Given the description of an element on the screen output the (x, y) to click on. 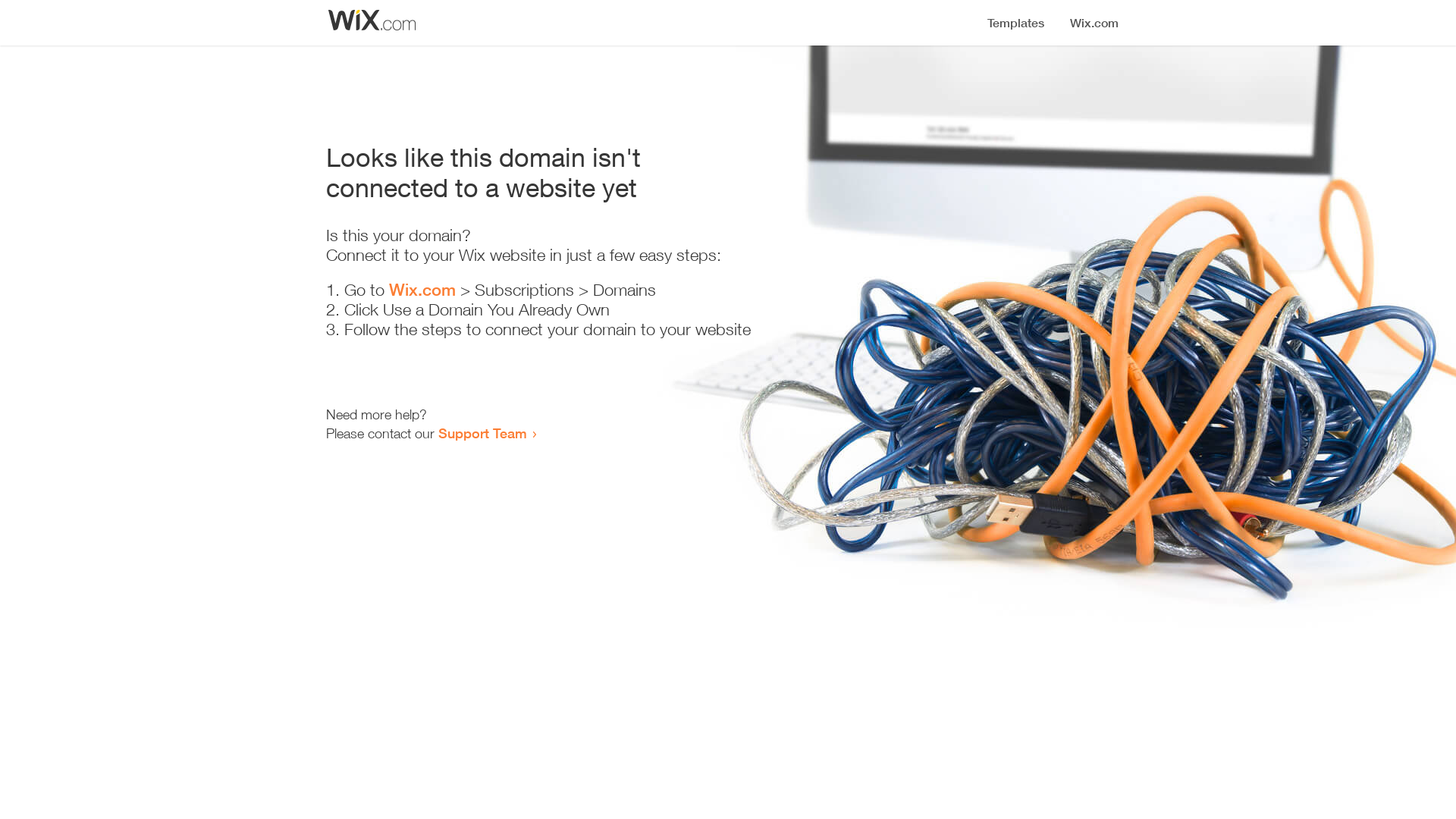
Support Team Element type: text (482, 432)
Wix.com Element type: text (422, 289)
